Given the description of an element on the screen output the (x, y) to click on. 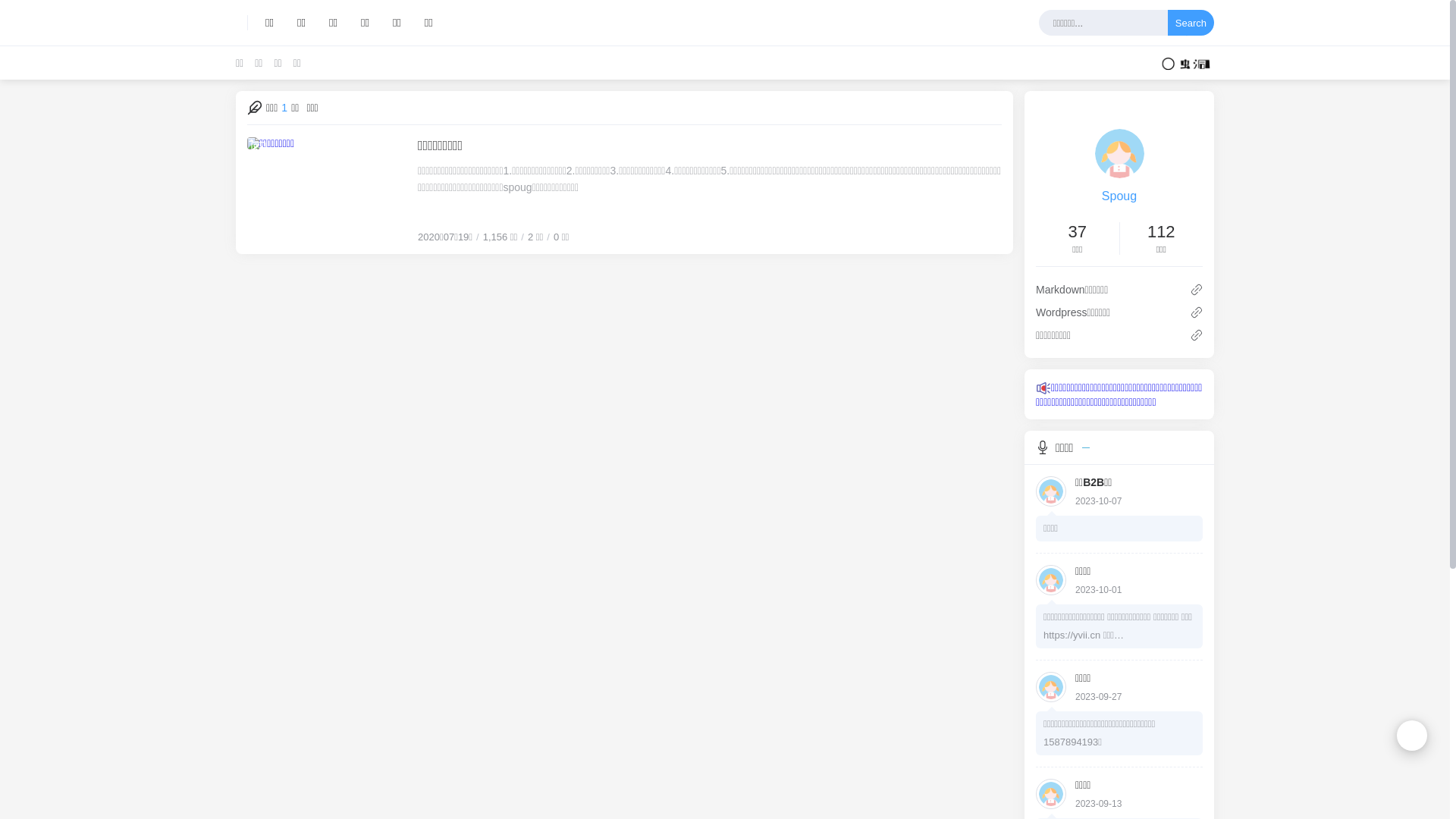
Spoug Element type: text (1118, 196)
Search Element type: text (1190, 22)
